Given the description of an element on the screen output the (x, y) to click on. 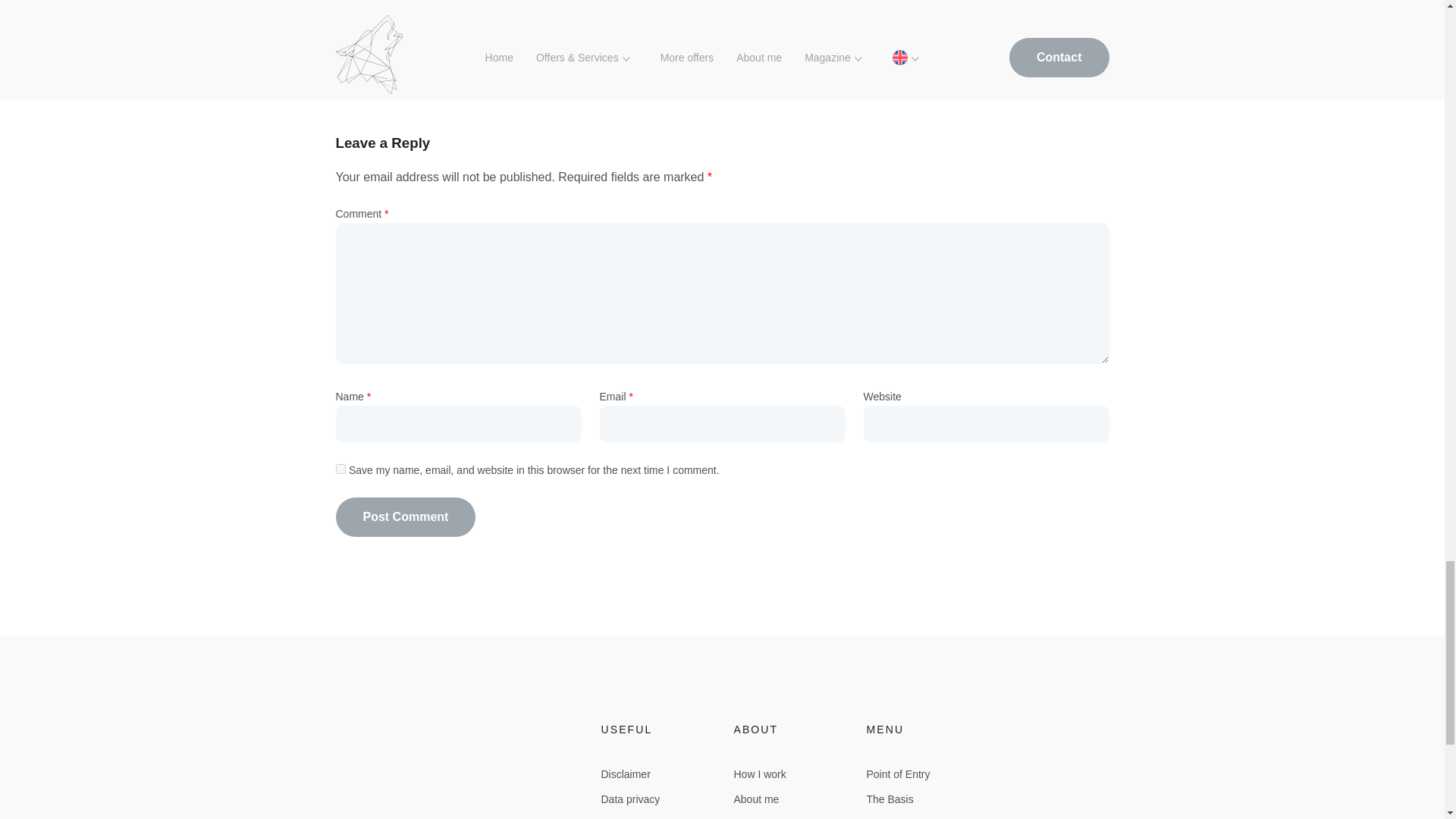
Data privacy (629, 799)
Post Comment (405, 517)
Disclaimer (624, 774)
yes (339, 469)
Post Comment (405, 517)
